Given the description of an element on the screen output the (x, y) to click on. 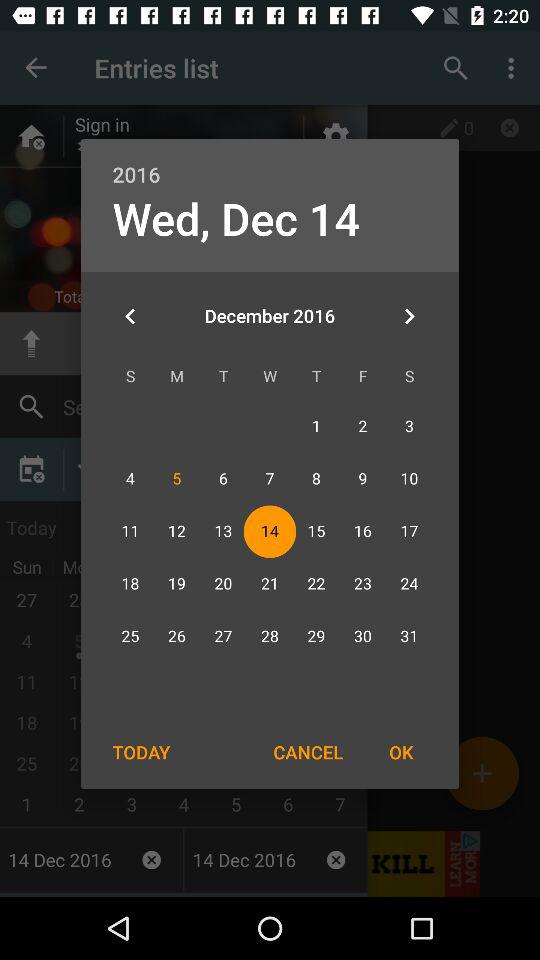
press the icon to the right of today (308, 751)
